Given the description of an element on the screen output the (x, y) to click on. 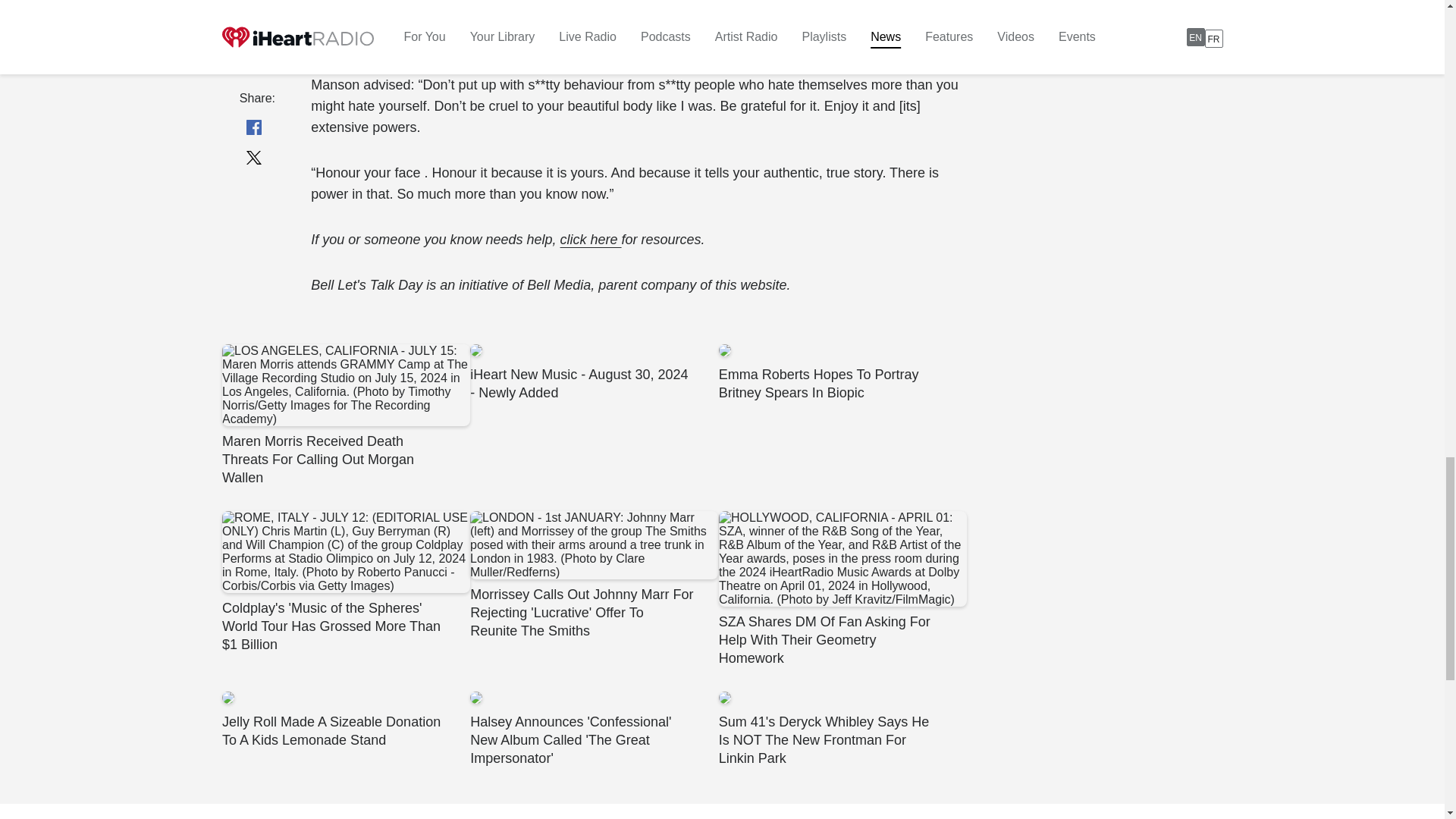
click here (590, 239)
iHeart New Music - August 30, 2024 - Newly Added (593, 372)
Emma Roberts Hopes To Portray Britney Spears In Biopic (841, 372)
Jelly Roll Made A Sizeable Donation To A Kids Lemonade Stand (344, 720)
Emma Roberts Hopes To Portray Britney Spears In Biopic (841, 372)
